Given the description of an element on the screen output the (x, y) to click on. 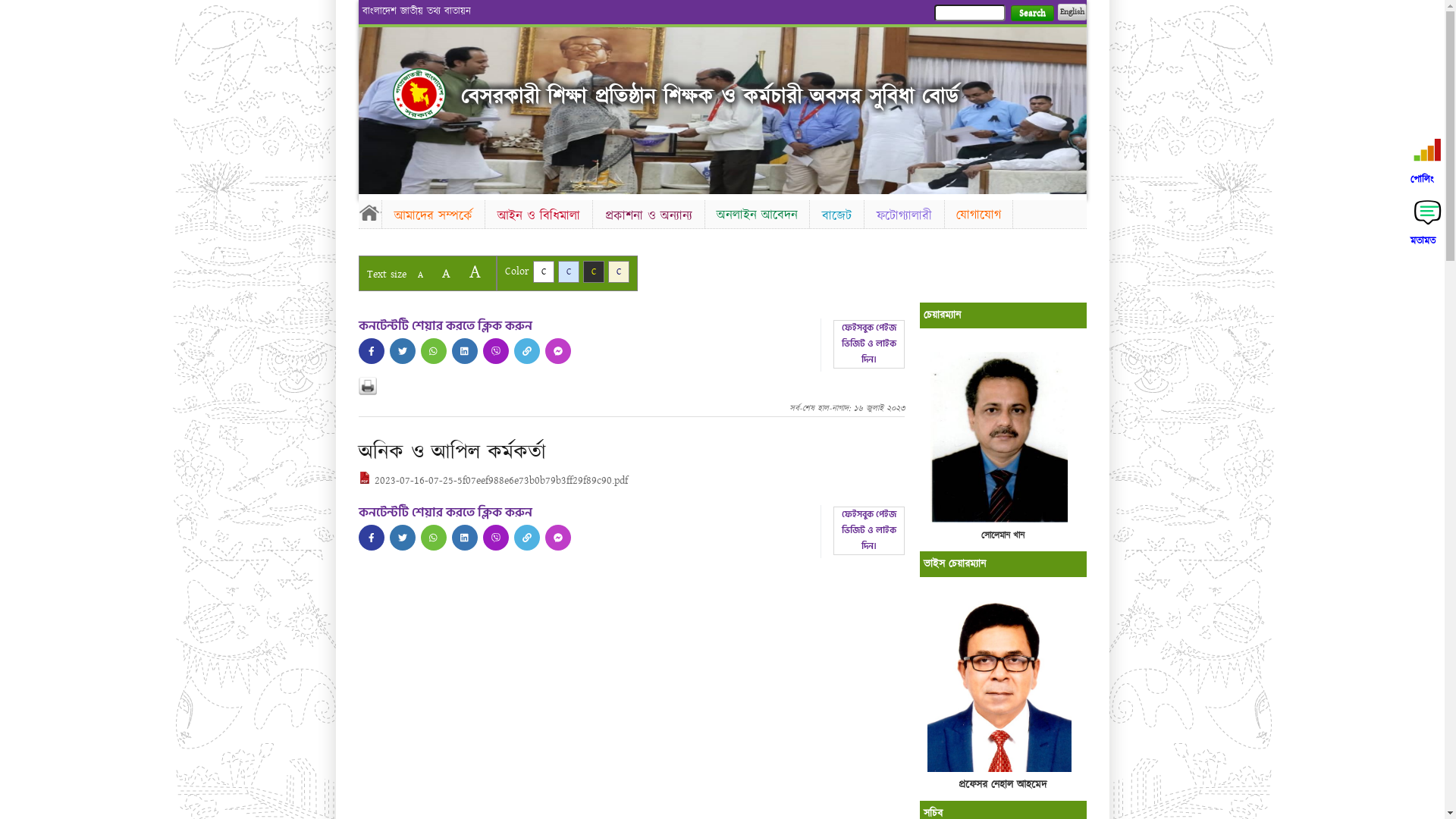
Home Element type: hover (418, 93)
C Element type: text (592, 271)
English Element type: text (1071, 11)
C Element type: text (542, 271)
2023-07-16-07-25-5f07eef988e6e73b0b79b3ff29f89c90.pdf Element type: text (492, 480)
A Element type: text (445, 273)
C Element type: text (568, 271)
Search Element type: text (1031, 13)
C Element type: text (618, 271)
A Element type: text (474, 271)
A Element type: text (419, 274)
Home Element type: hover (368, 211)
